Given the description of an element on the screen output the (x, y) to click on. 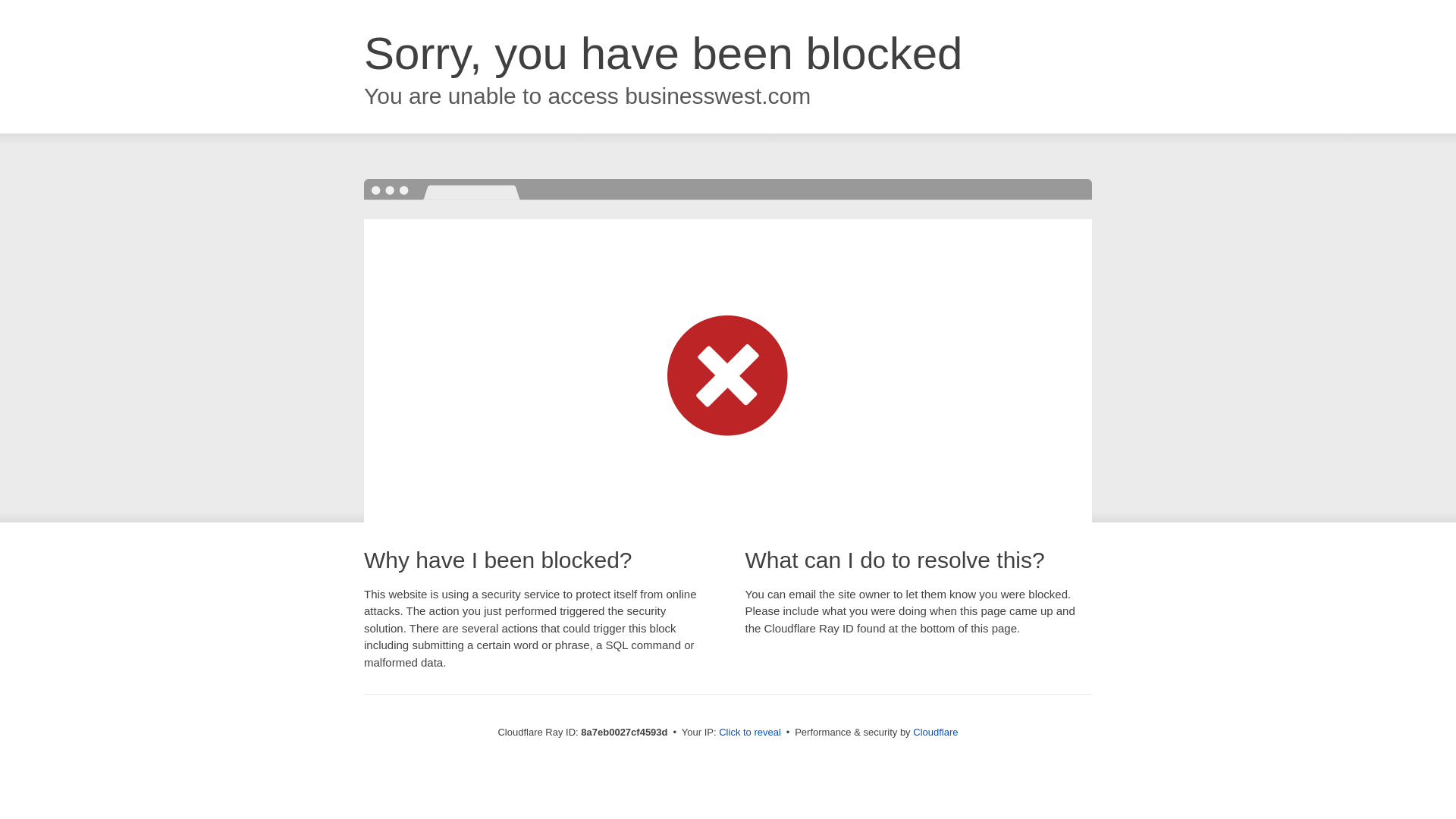
Cloudflare (935, 731)
Click to reveal (749, 732)
